Given the description of an element on the screen output the (x, y) to click on. 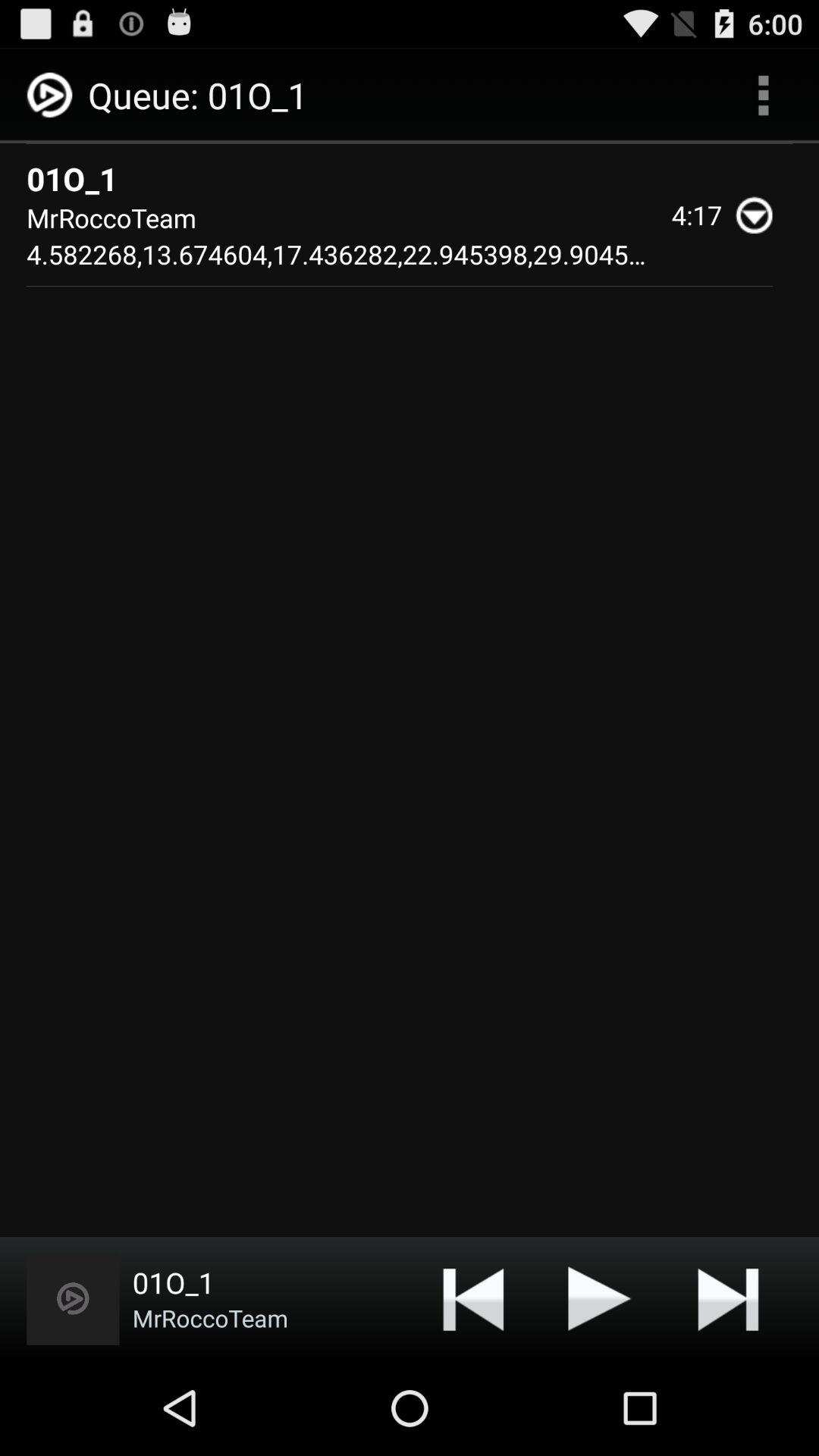
play media (600, 1298)
